Given the description of an element on the screen output the (x, y) to click on. 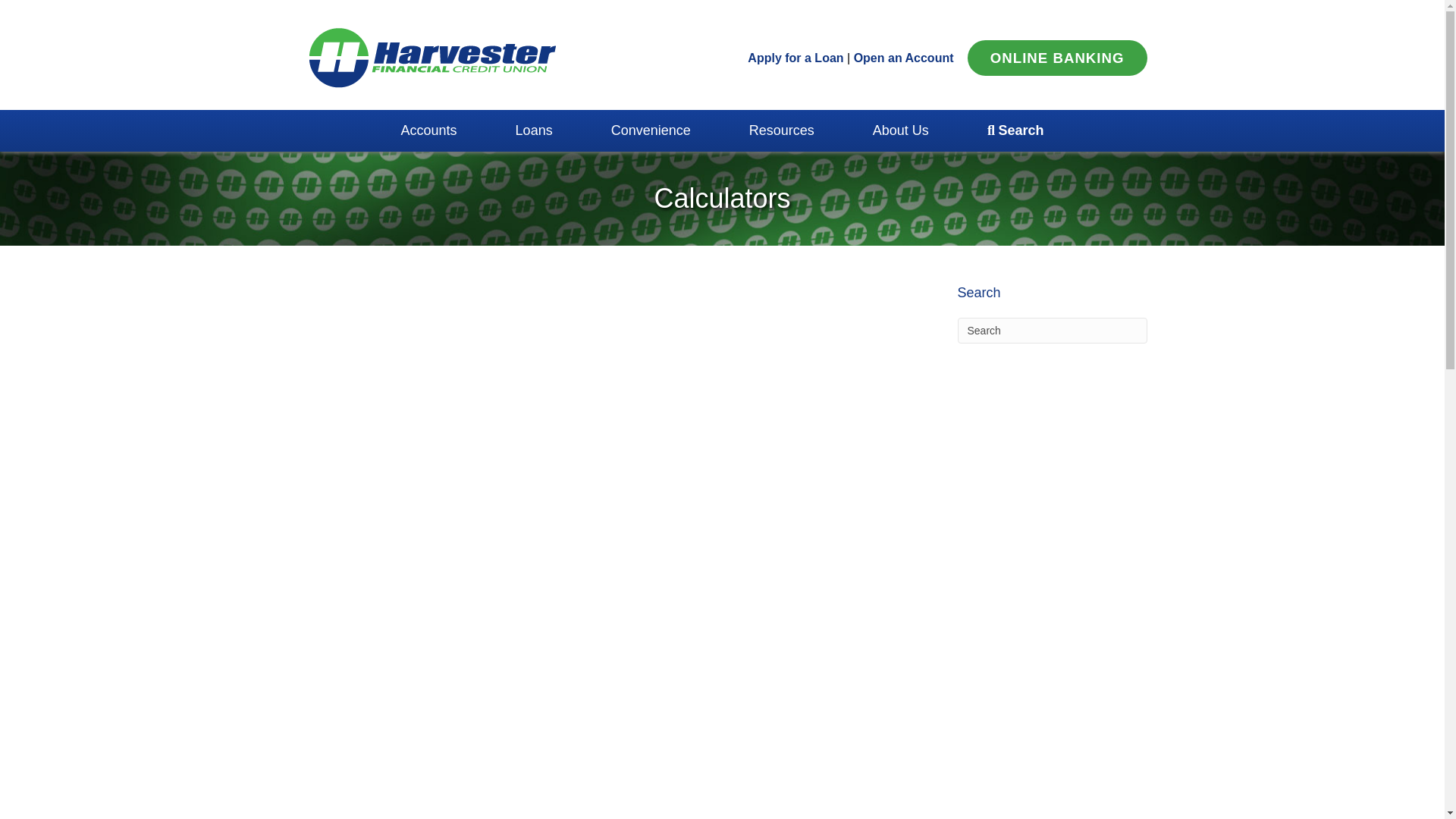
Search (1051, 330)
Type and press Enter to search. (1051, 330)
Apply for a Loan (795, 57)
Accounts (428, 130)
Loans (534, 130)
Resources (781, 130)
Open an Account (903, 57)
search (1015, 130)
Convenience (651, 130)
Search (1051, 330)
